Given the description of an element on the screen output the (x, y) to click on. 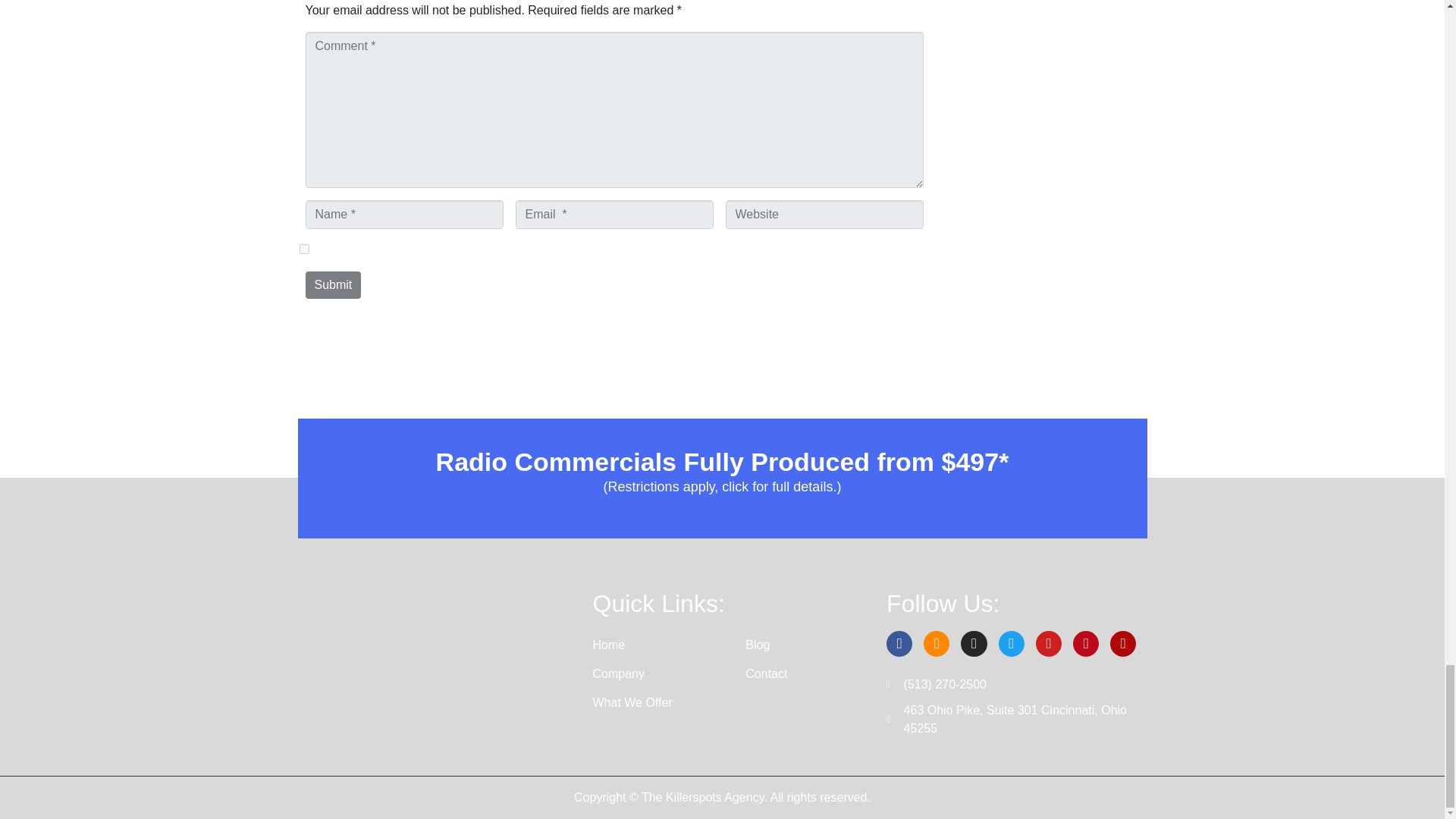
yes (303, 248)
